Given the description of an element on the screen output the (x, y) to click on. 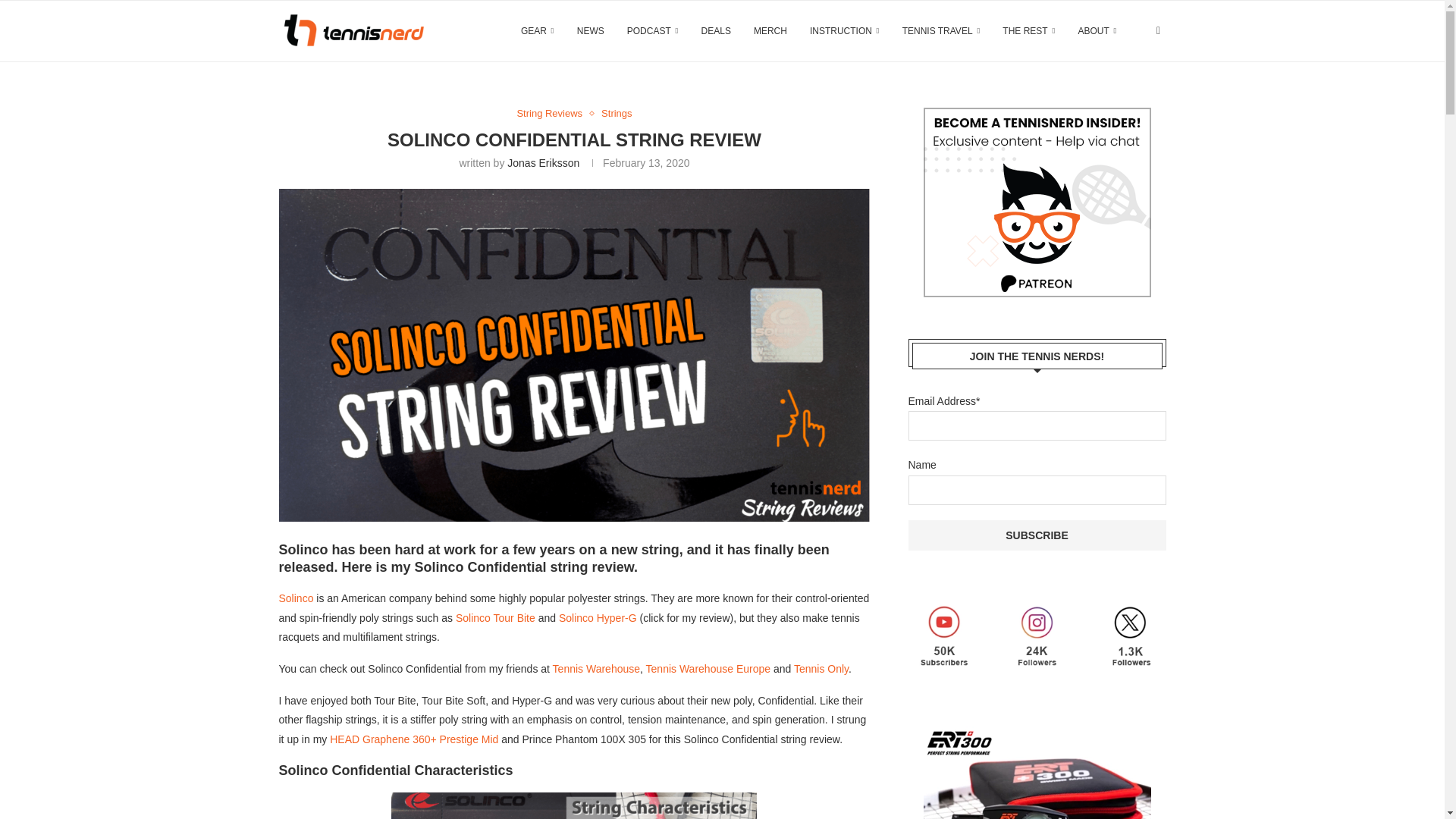
Subscribe (1037, 535)
